Given the description of an element on the screen output the (x, y) to click on. 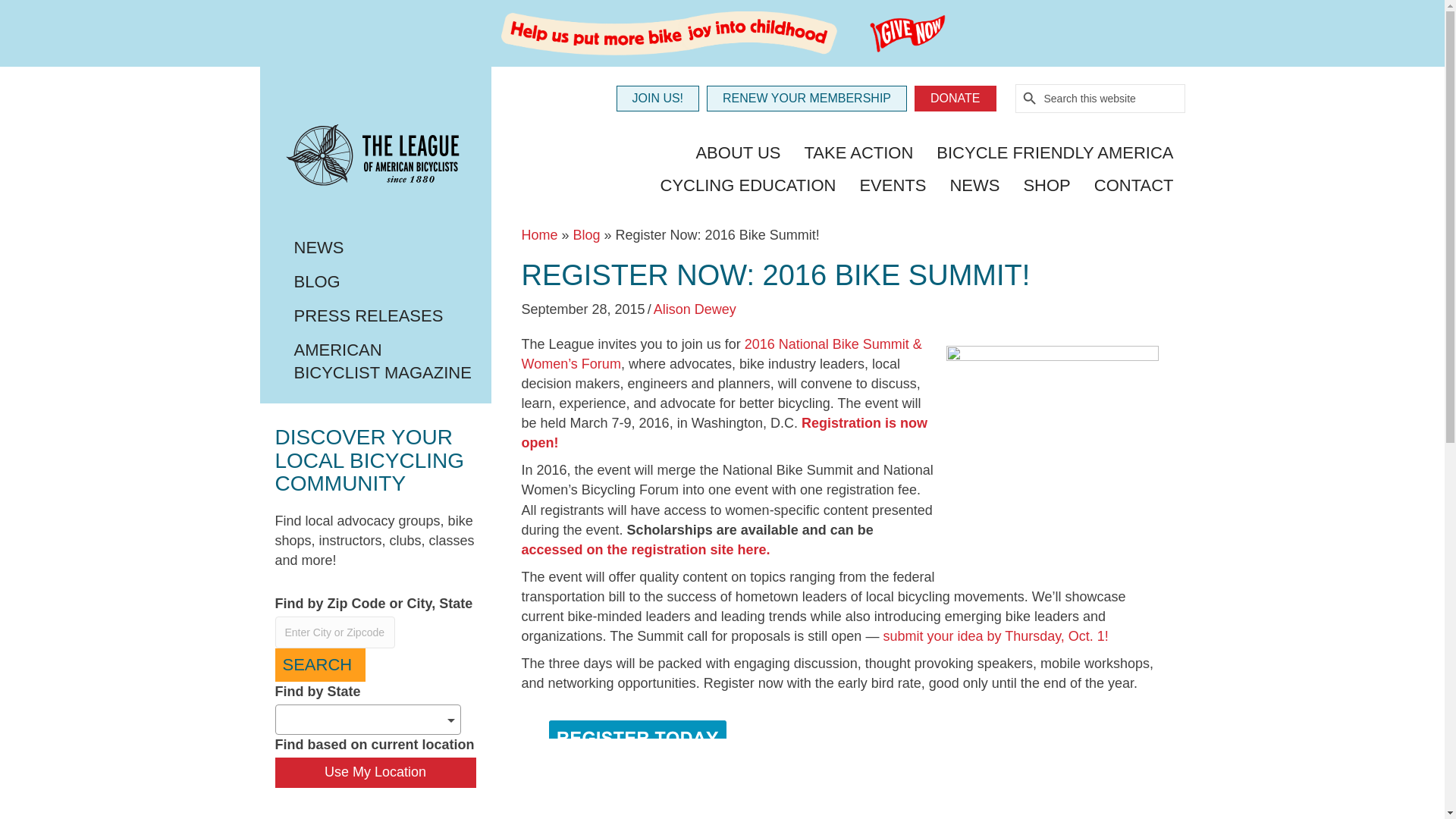
JOIN US! (656, 98)
The League of American Bicyclists (375, 158)
TAKE ACTION (858, 154)
DONATE (954, 98)
RENEW YOUR MEMBERSHIP (806, 98)
Search Button (1029, 98)
ABOUT US (738, 154)
